Given the description of an element on the screen output the (x, y) to click on. 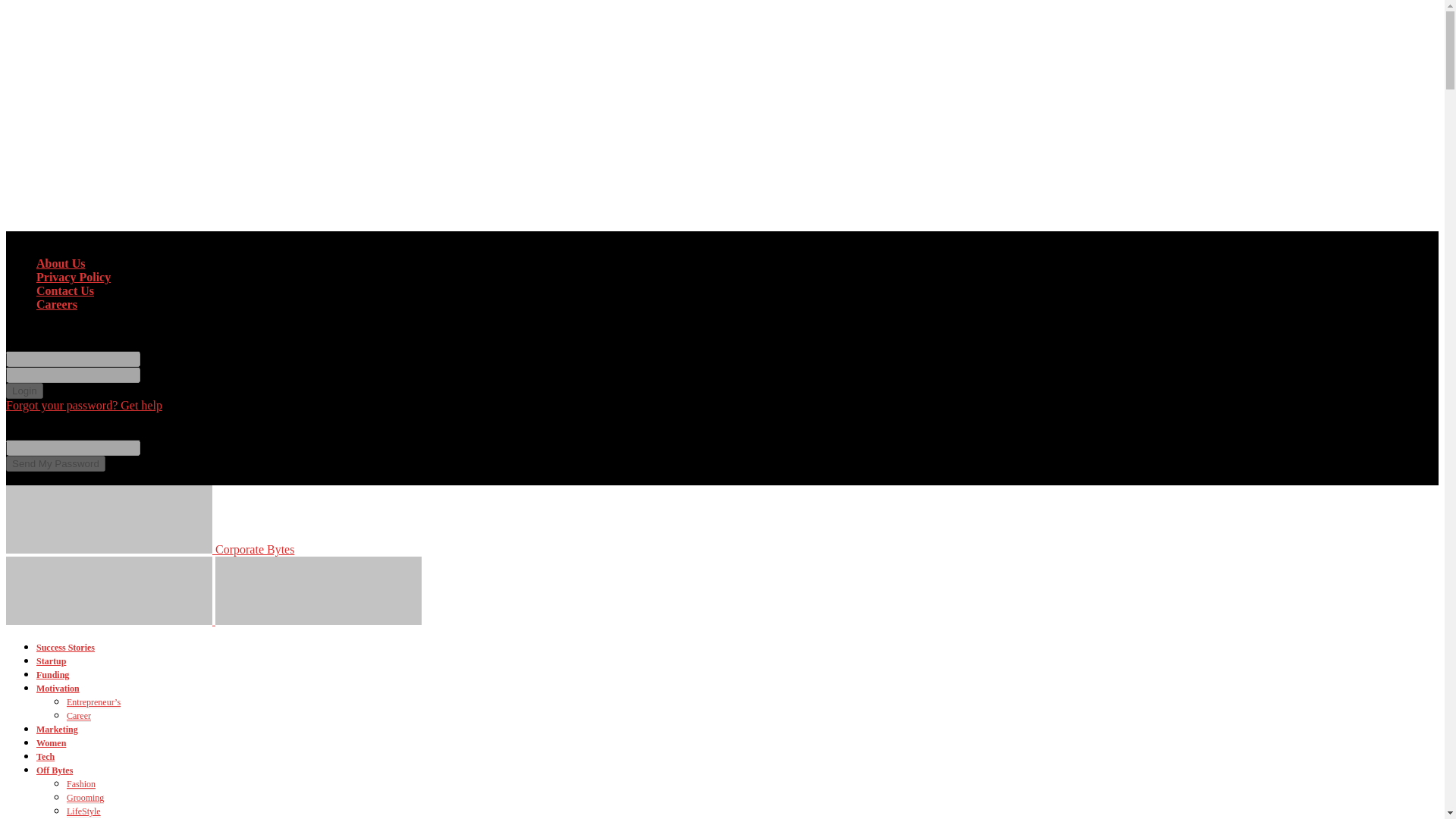
Login (24, 390)
Motivation (58, 688)
Forgot your password? Get help (83, 404)
Success Stories (65, 647)
Funding (52, 674)
Career (78, 715)
Marketing (57, 728)
Corporate Bytes (149, 549)
Send My Password (54, 463)
About Us (60, 263)
Careers (56, 304)
Women (50, 742)
Startup (50, 661)
Contact Us (65, 290)
Privacy Policy (73, 277)
